Given the description of an element on the screen output the (x, y) to click on. 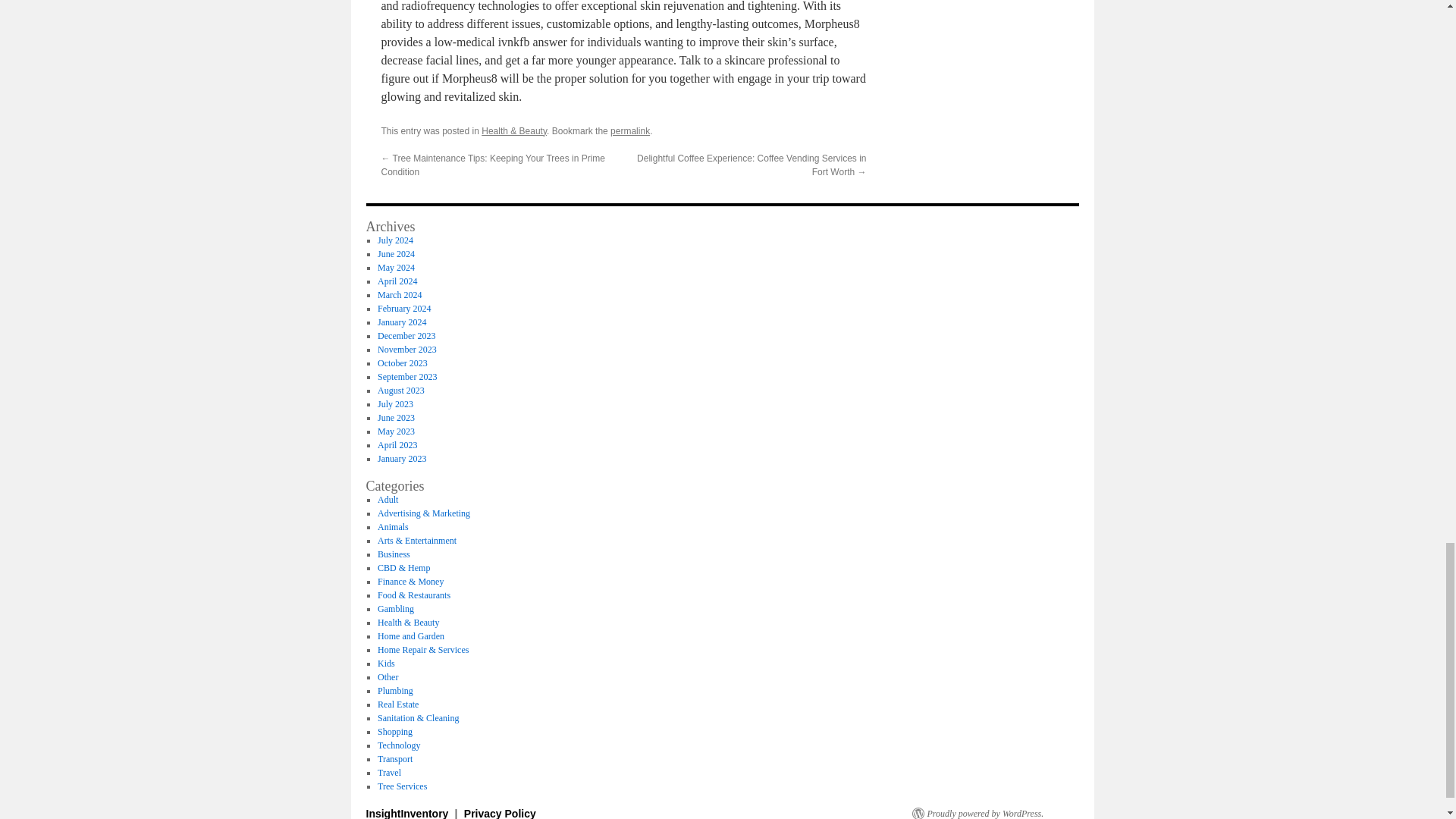
January 2024 (401, 321)
May 2024 (395, 267)
September 2023 (406, 376)
April 2023 (396, 444)
Adult (387, 499)
June 2023 (395, 417)
permalink (629, 131)
March 2024 (399, 294)
February 2024 (403, 308)
June 2024 (395, 253)
November 2023 (406, 348)
August 2023 (401, 389)
January 2023 (401, 458)
October 2023 (402, 362)
